Given the description of an element on the screen output the (x, y) to click on. 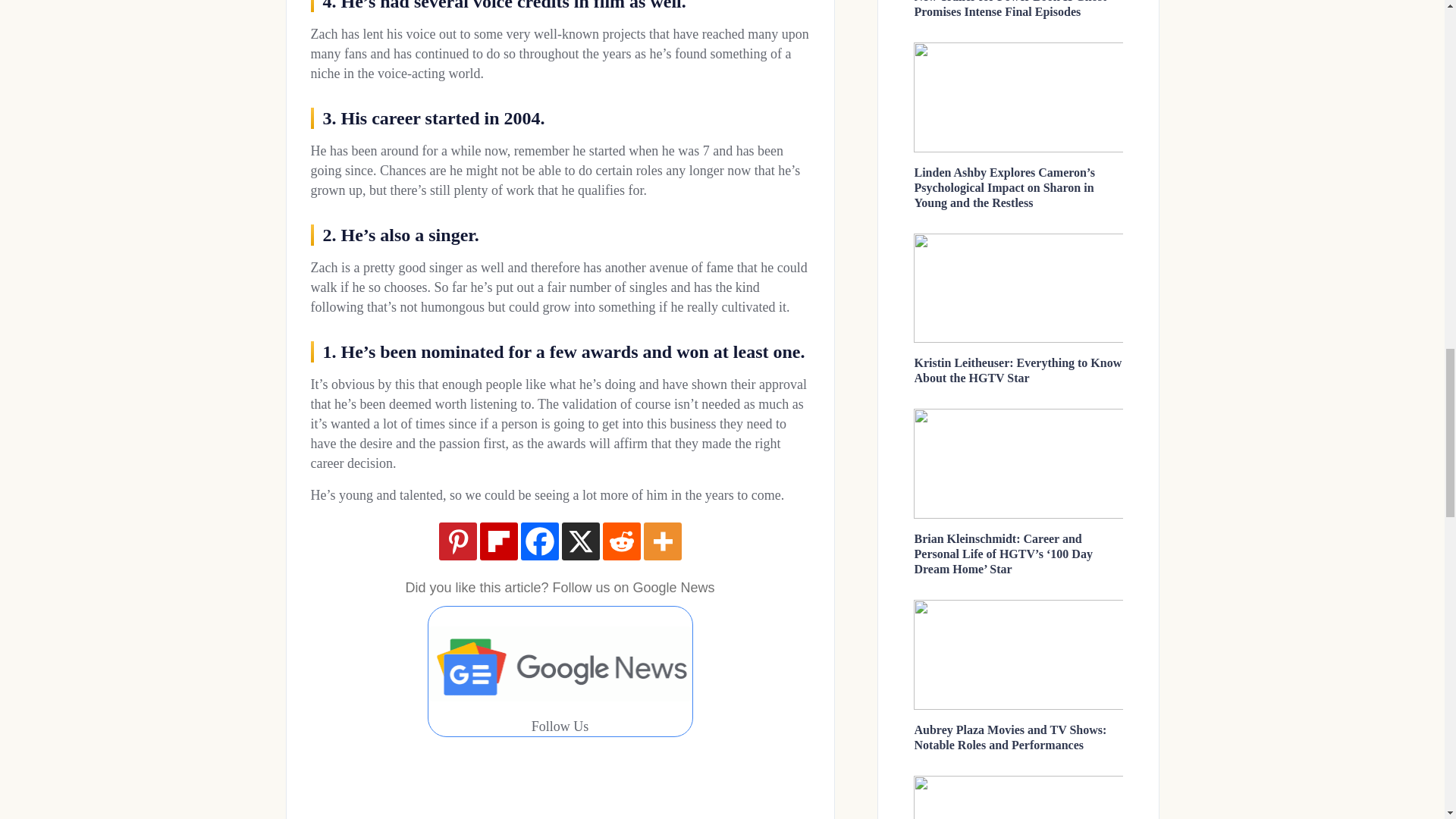
More (662, 541)
Pinterest (457, 541)
Reddit (621, 541)
Flipboard (497, 541)
X (579, 541)
Facebook (538, 541)
